Given the description of an element on the screen output the (x, y) to click on. 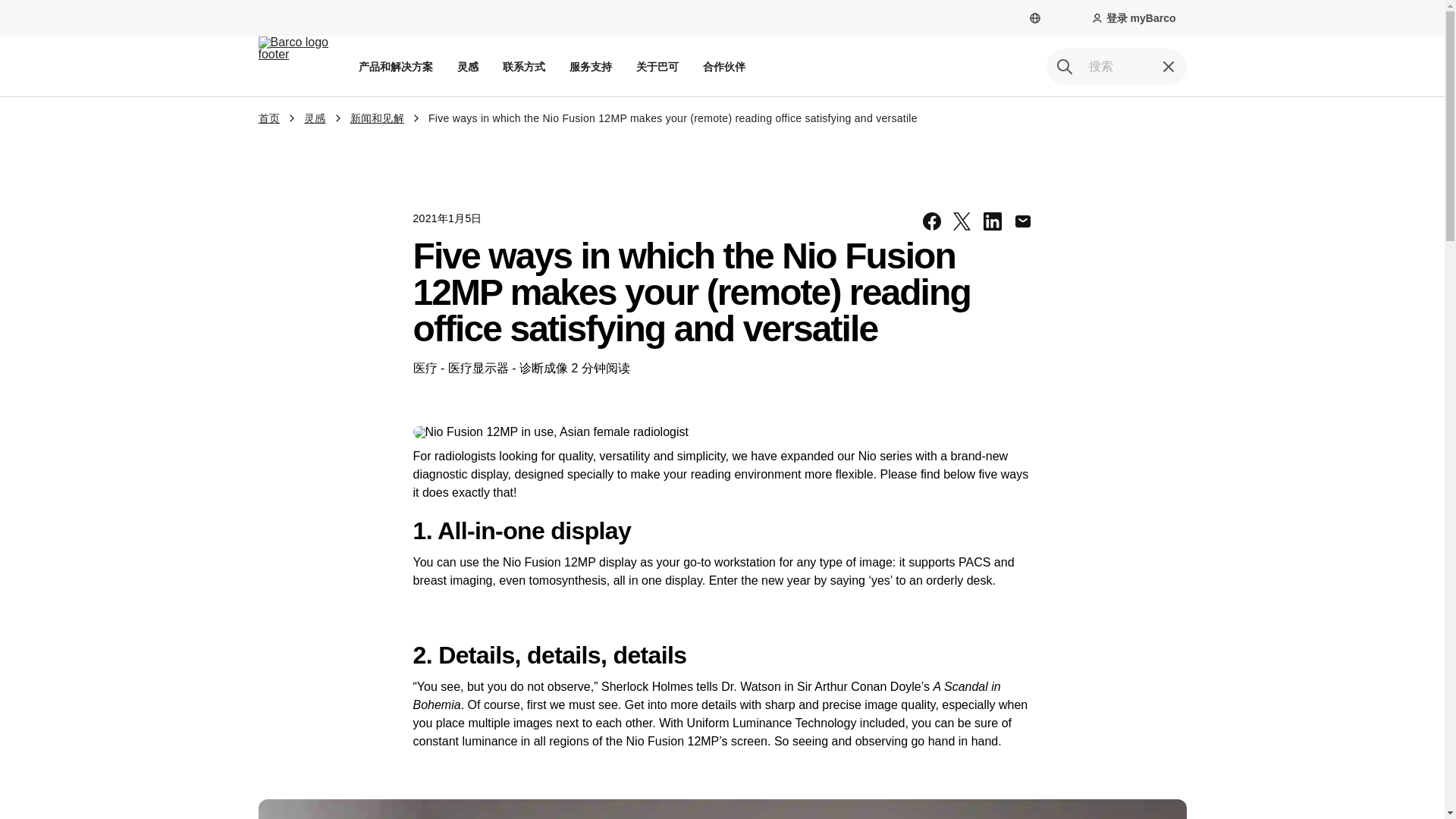
MDNC-12130 front female 0107 (567, 431)
